Given the description of an element on the screen output the (x, y) to click on. 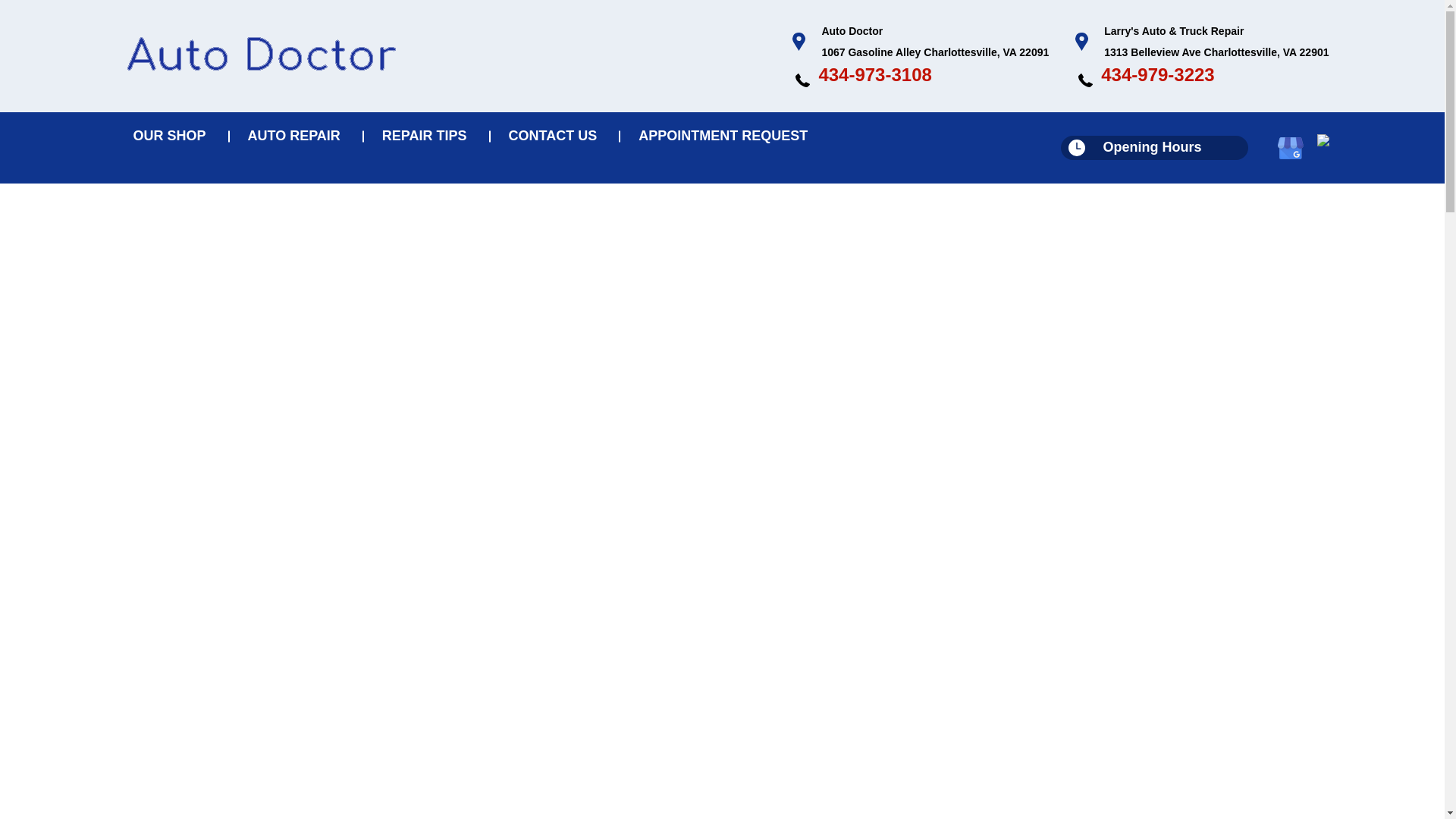
OUR SHOP (172, 136)
434-979-3223 (1157, 74)
REPAIR TIPS (428, 136)
434-973-3108 (874, 74)
CONTACT US (556, 136)
AUTO REPAIR (297, 136)
APPOINTMENT REQUEST (723, 136)
